Given the description of an element on the screen output the (x, y) to click on. 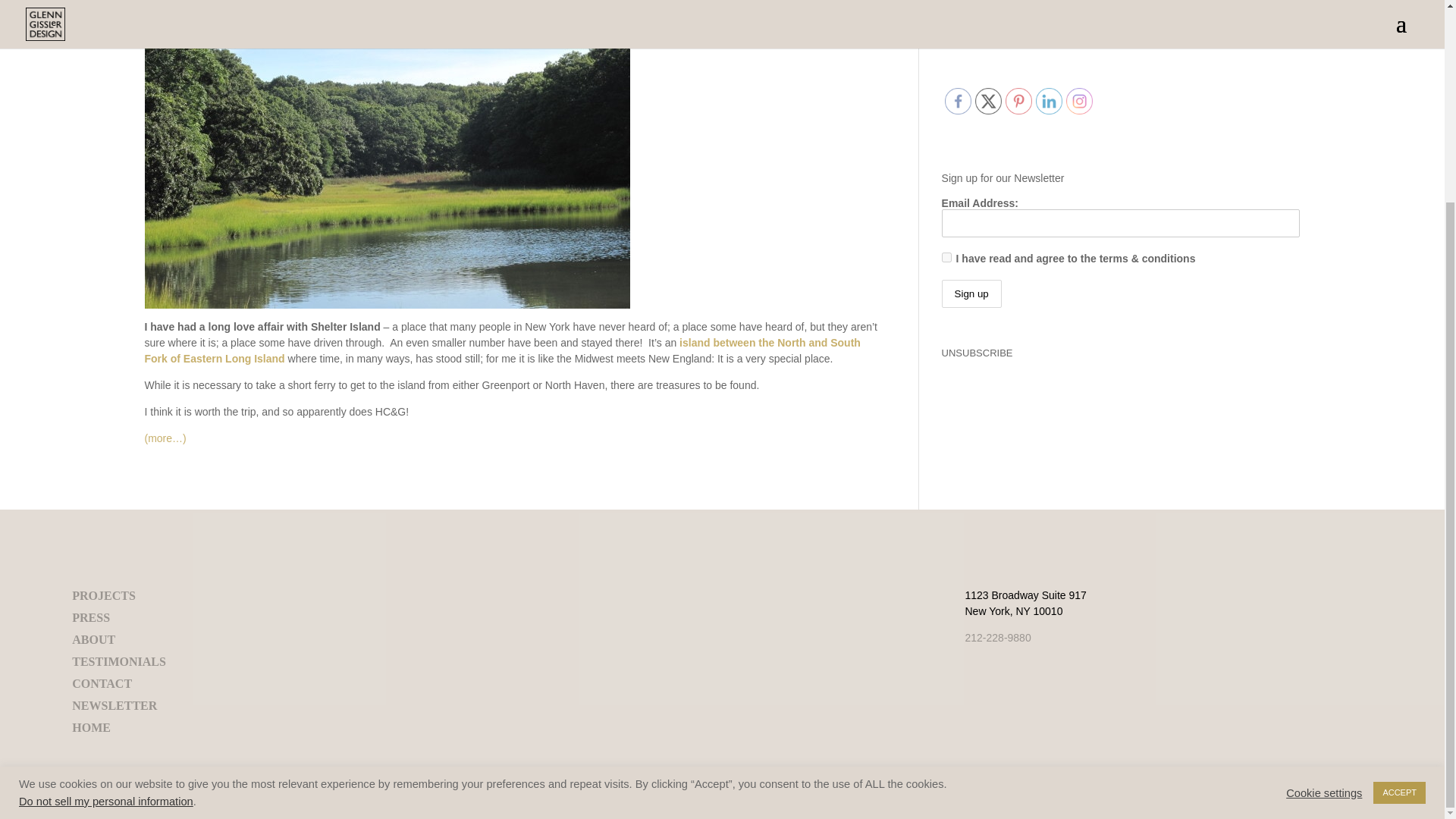
PROJECTS (103, 594)
Twitter (988, 100)
Instagram (1079, 100)
LinkedIn (1048, 100)
Pinterest (1019, 100)
Sign up (971, 293)
Sign up (971, 293)
Facebook (957, 100)
1 (947, 257)
